Given the description of an element on the screen output the (x, y) to click on. 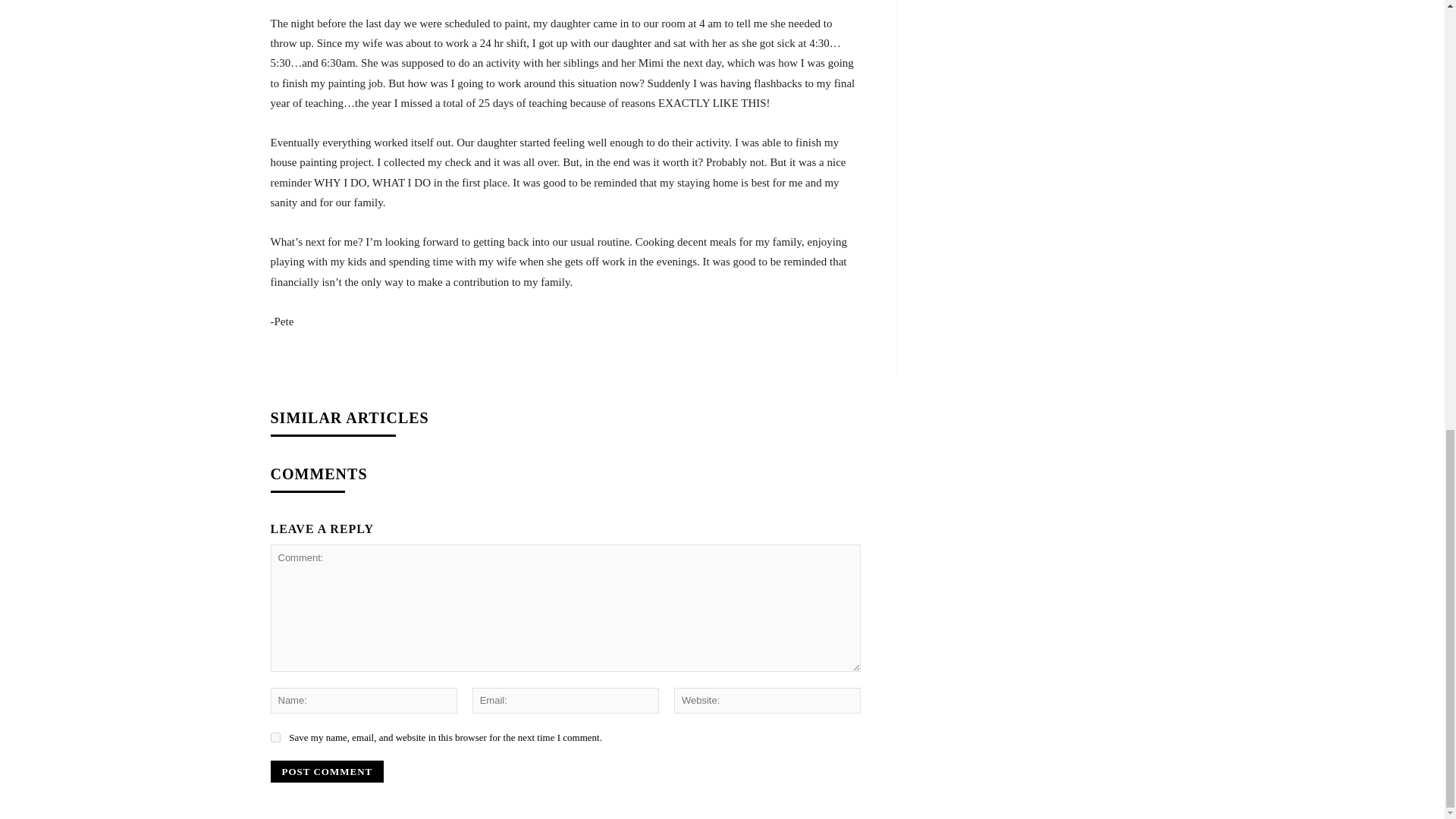
yes (274, 737)
Post Comment (326, 771)
